Given the description of an element on the screen output the (x, y) to click on. 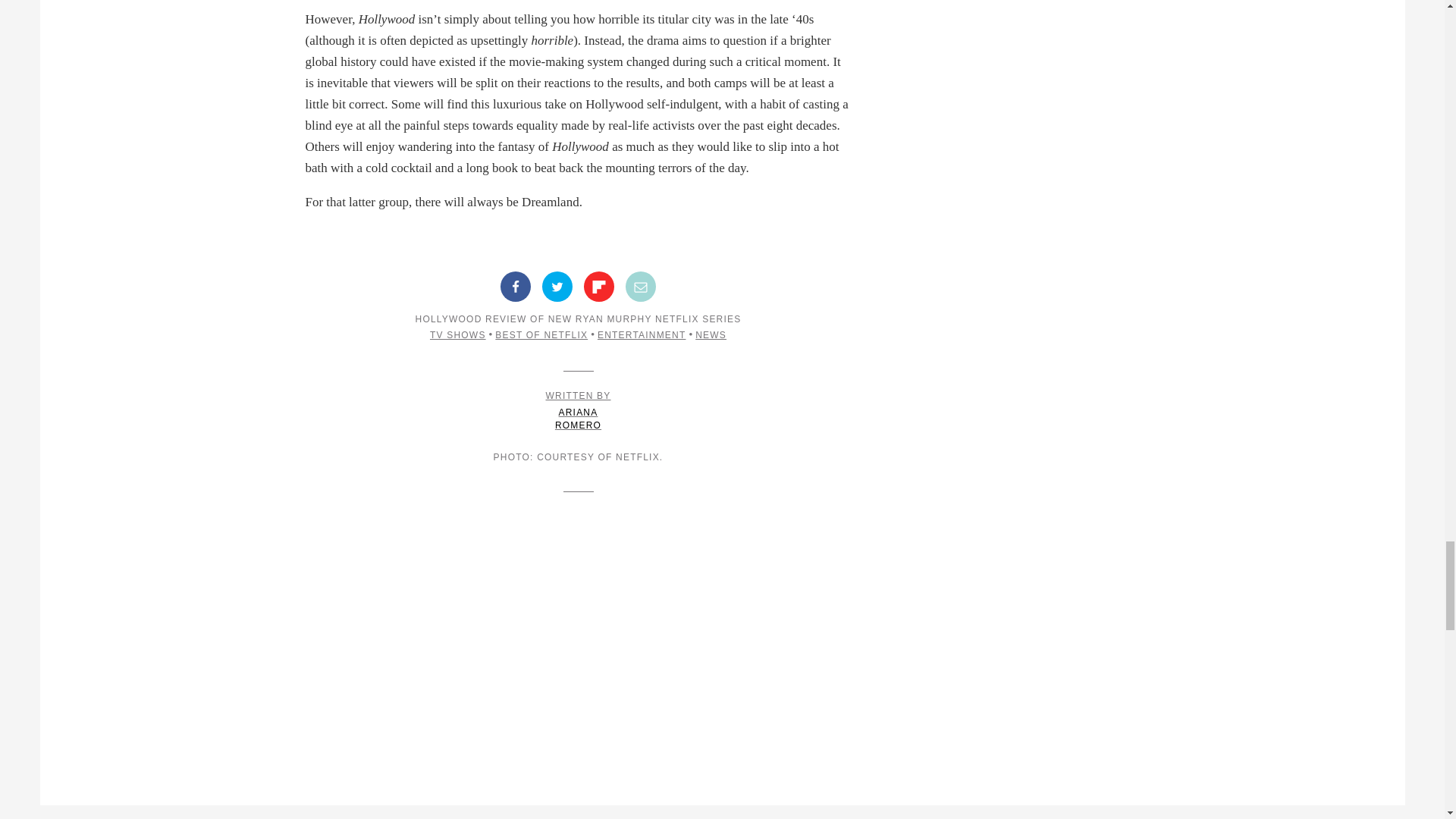
Share by Email (641, 286)
Share on Flipboard (598, 286)
Share on Twitter (556, 286)
